Given the description of an element on the screen output the (x, y) to click on. 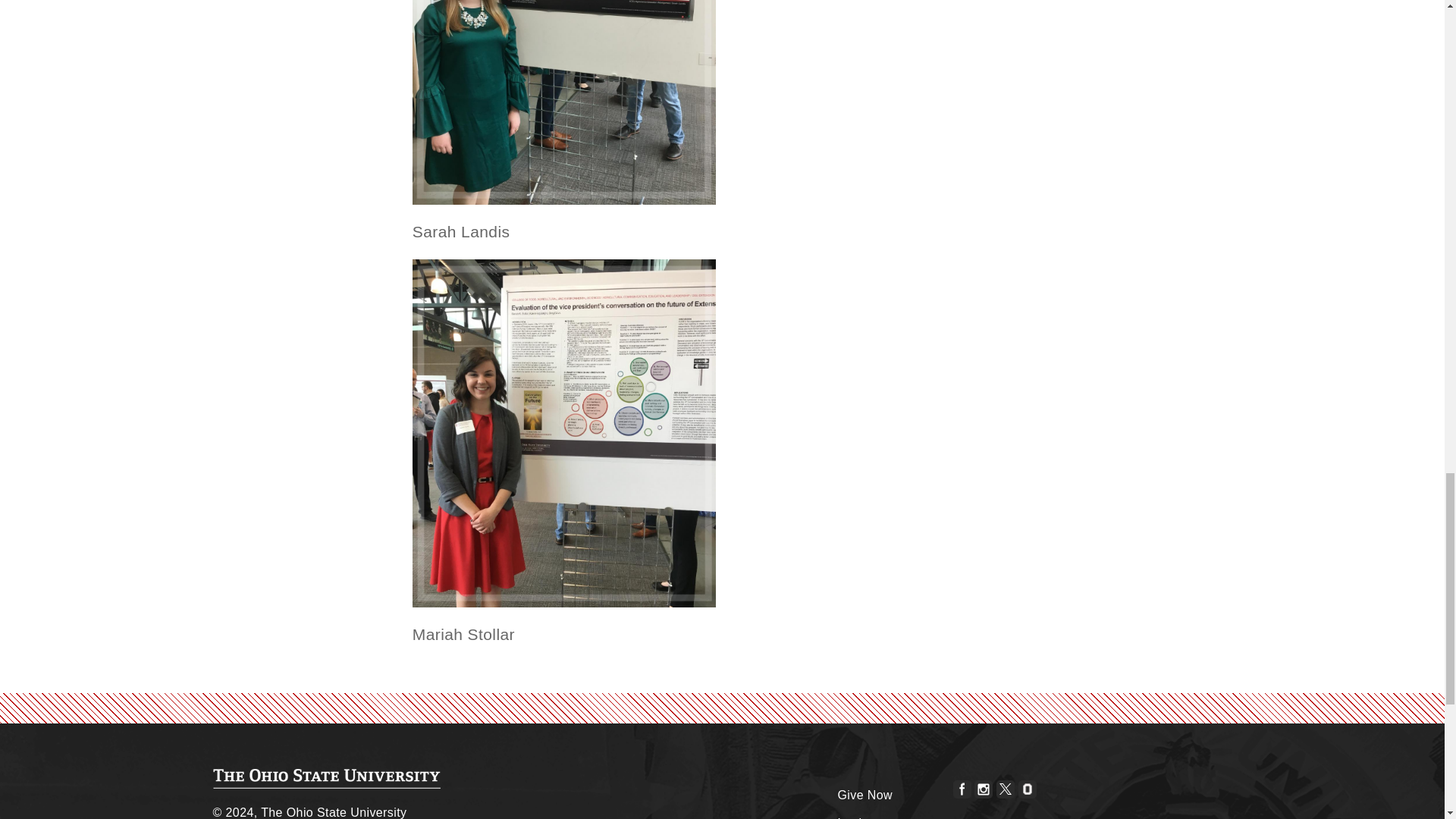
Sarah Landis (564, 102)
CFAES Home (325, 778)
